Given the description of an element on the screen output the (x, y) to click on. 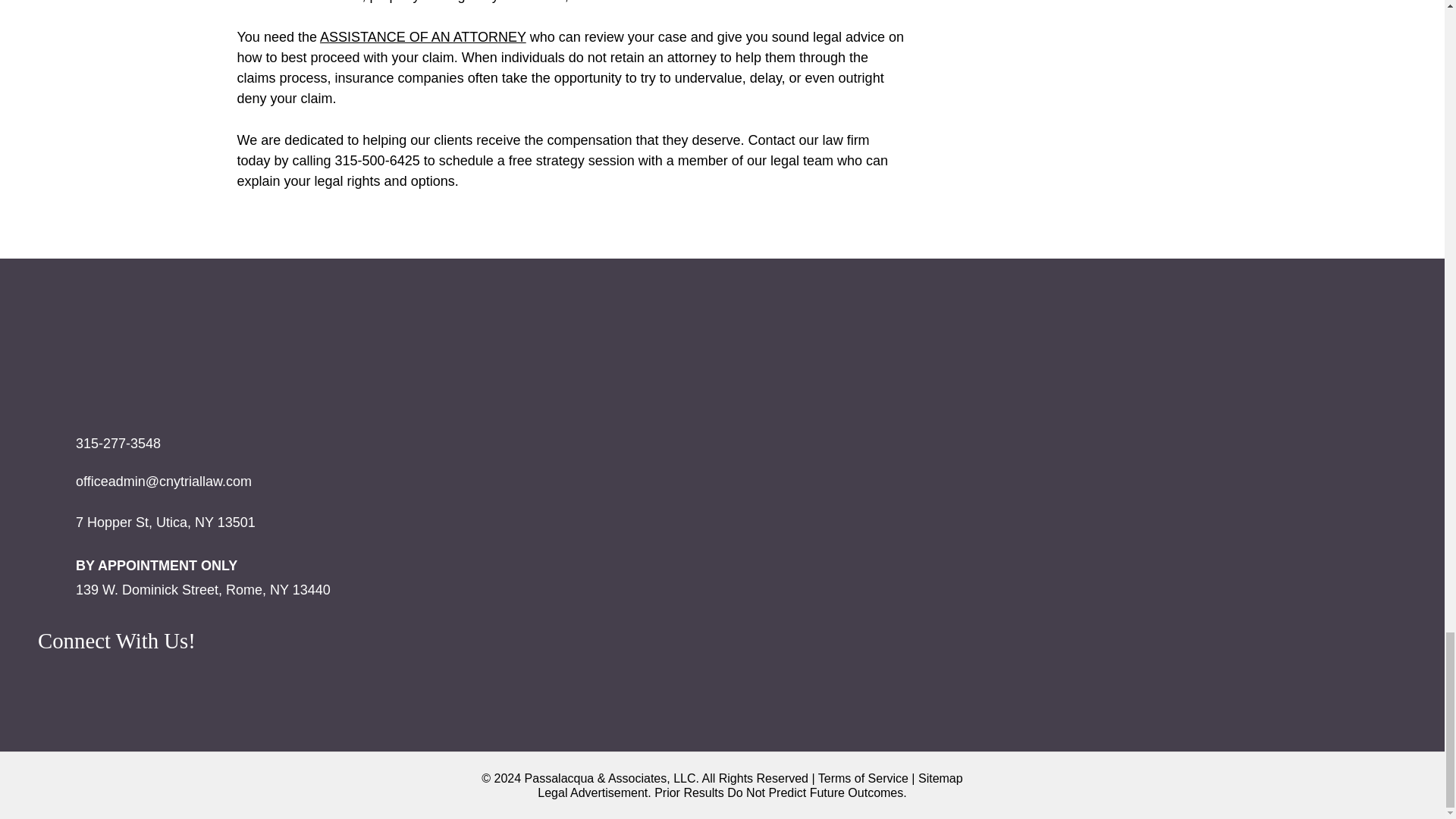
Linkedin (184, 678)
Twitter (57, 678)
Youtube (141, 678)
Facebook (99, 678)
Instagram (227, 678)
